Given the description of an element on the screen output the (x, y) to click on. 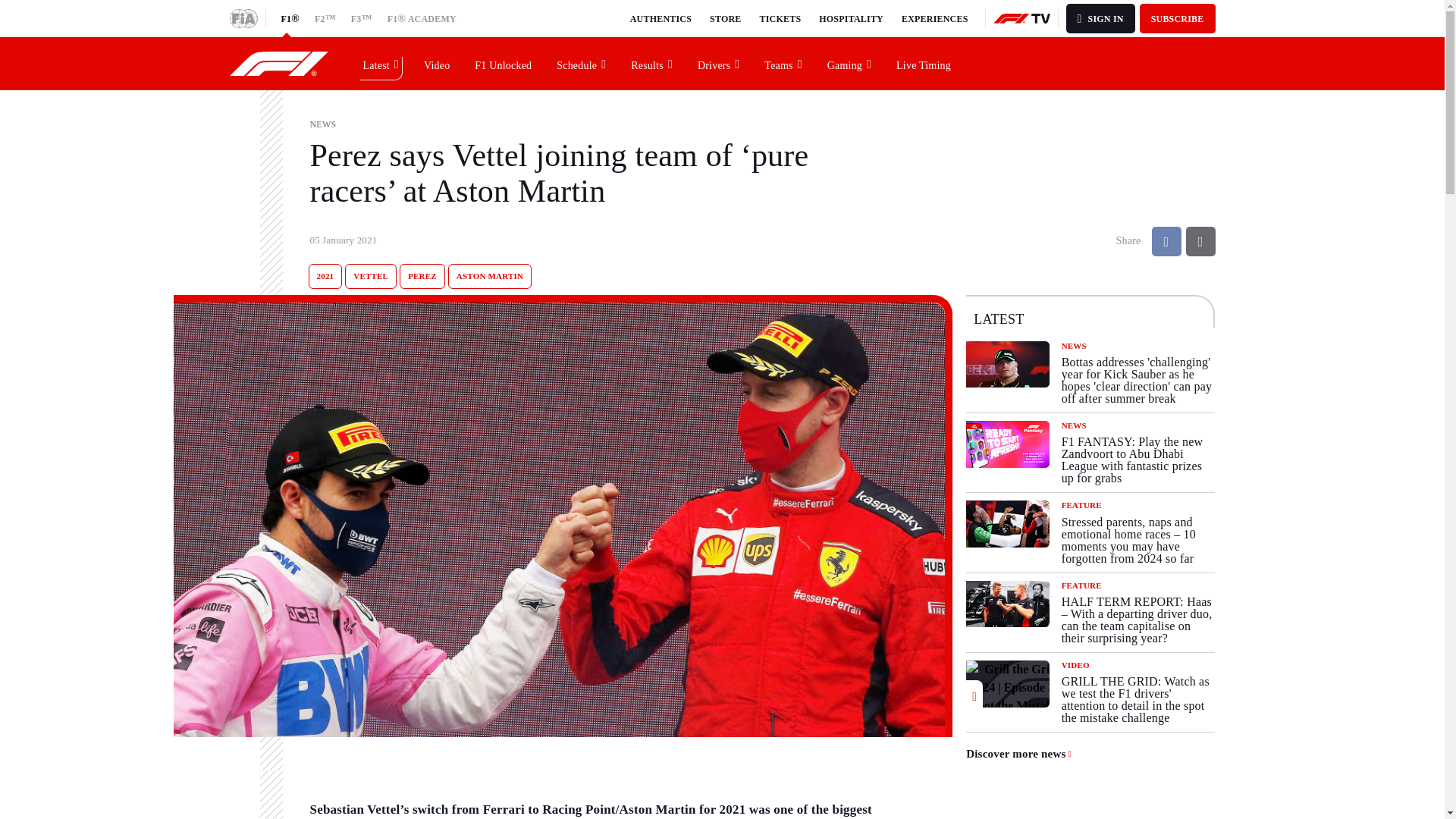
F1 Unlocked (503, 63)
SUBSCRIBE (1177, 18)
EXPERIENCES (934, 18)
Latest (380, 63)
Gaming (849, 63)
HOSPITALITY (850, 18)
2021 (324, 276)
Drivers (718, 63)
